Given the description of an element on the screen output the (x, y) to click on. 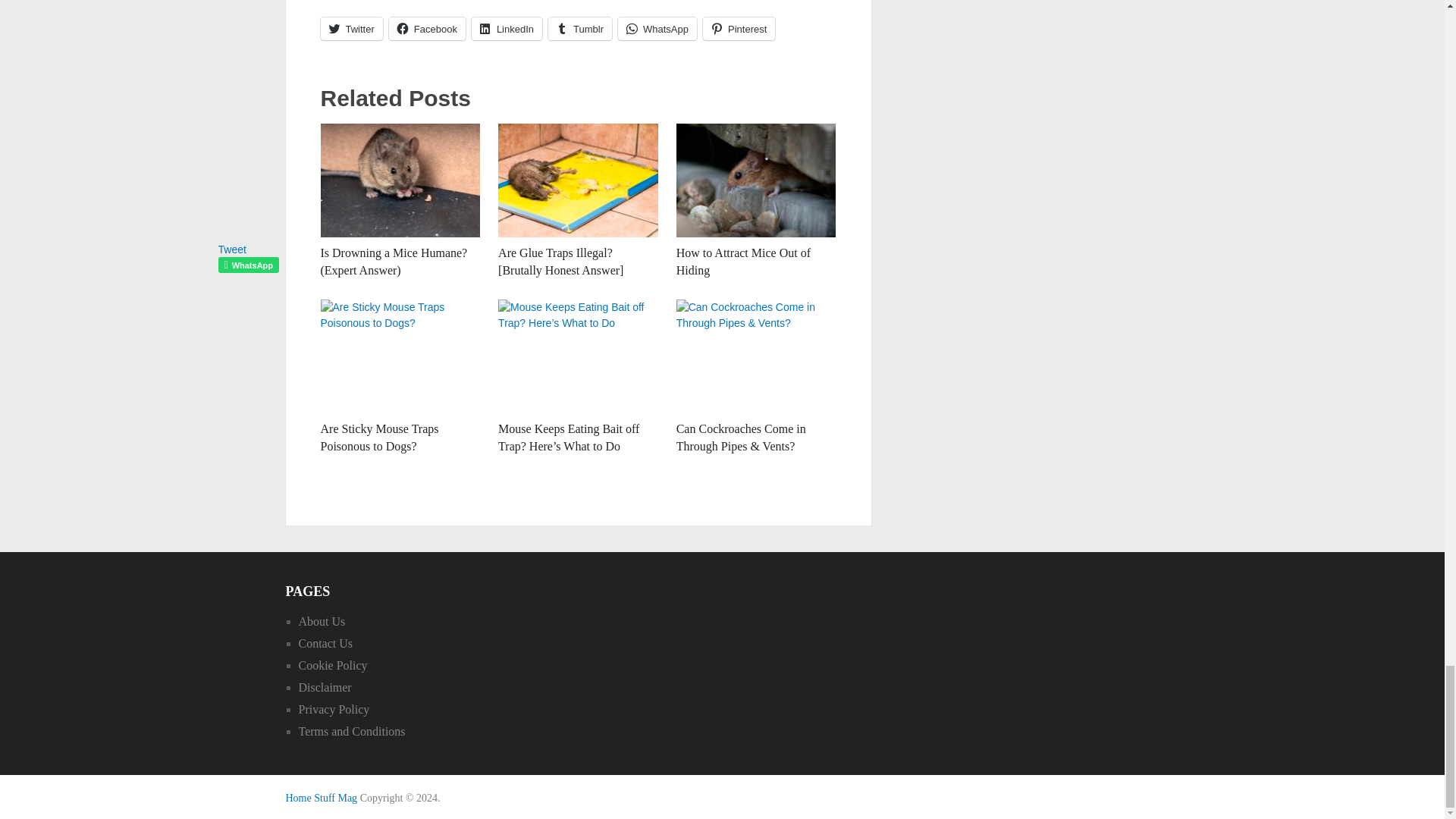
Click to share on Facebook (426, 28)
Click to share on Tumblr (579, 28)
How to Attract Mice Out of Hiding (743, 261)
Click to share on Twitter (350, 28)
Tumblr (579, 28)
WhatsApp (657, 28)
Are Sticky Mouse Traps Poisonous to Dogs? (379, 437)
Twitter (350, 28)
Facebook (426, 28)
Click to share on WhatsApp (657, 28)
